Given the description of an element on the screen output the (x, y) to click on. 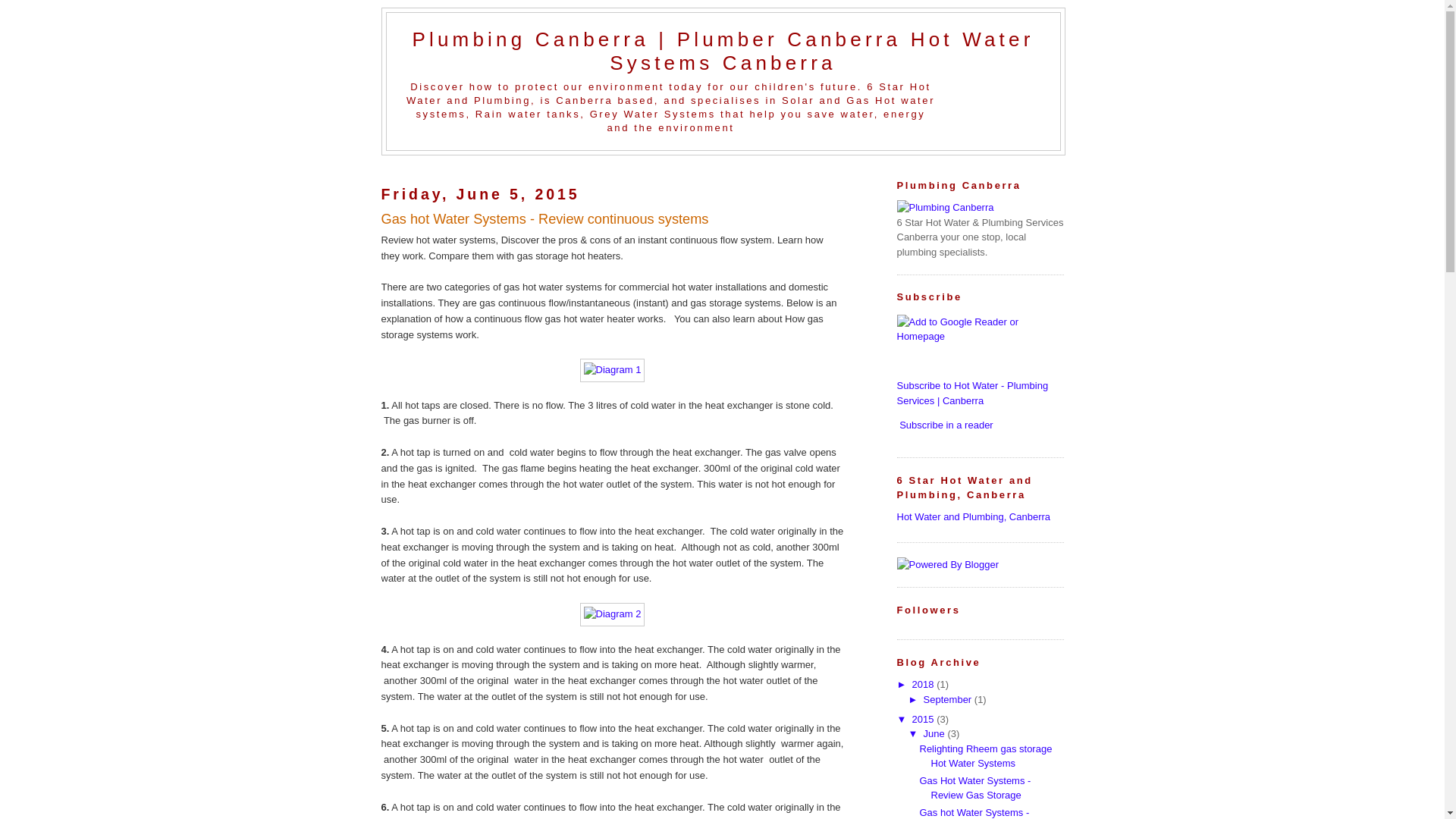
Subscribe to Hot Water - Plumbing Services | Canberra Element type: text (972, 392)
June Element type: text (935, 733)
Relighting Rheem gas storage Hot Water Systems Element type: text (985, 756)
Gas Hot Water Systems - Review Gas Storage Element type: text (974, 788)
Hot Water and Plumbing, Canberra Element type: text (973, 516)
Subscribe in a reader Element type: text (946, 424)
2015 Element type: text (924, 718)
2018 Element type: text (924, 684)
September Element type: text (948, 698)
